Given the description of an element on the screen output the (x, y) to click on. 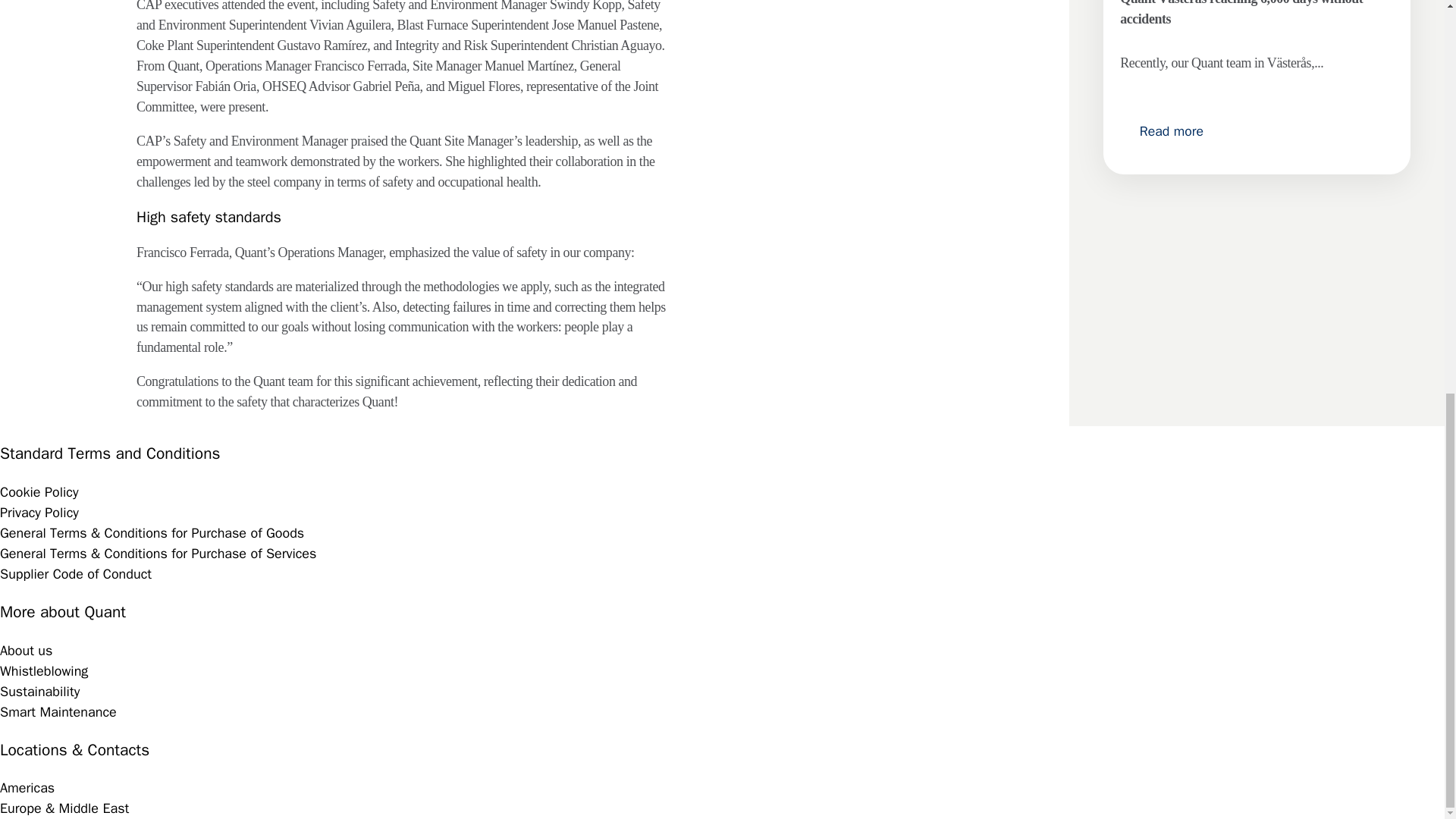
Privacy Policy (39, 512)
Whistleblowing (43, 670)
About us (26, 650)
Americas (27, 787)
Cookie Policy (39, 492)
Sustainability (40, 691)
Supplier Code of Conduct (75, 573)
Smart Maintenance (58, 711)
